Given the description of an element on the screen output the (x, y) to click on. 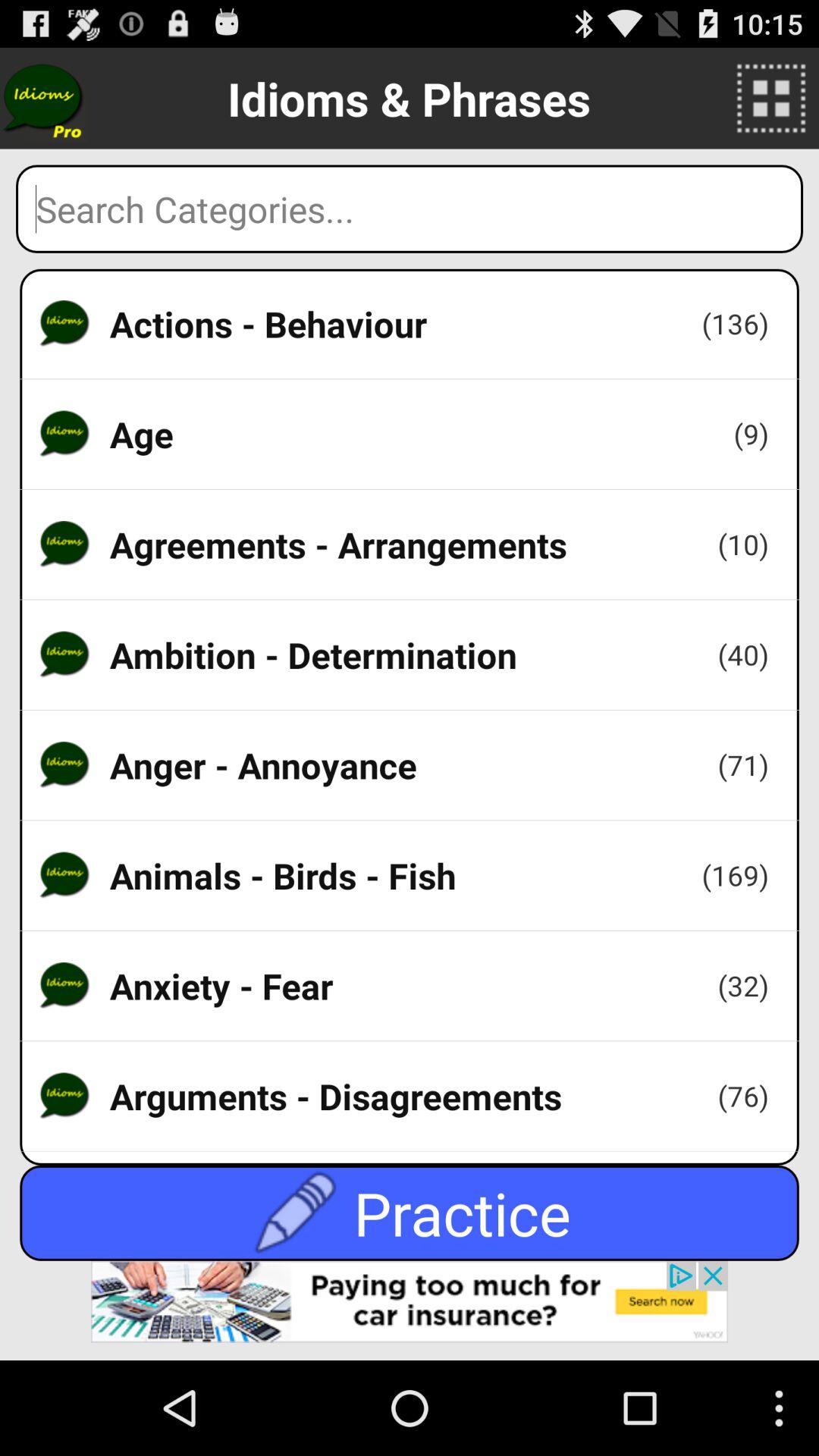
idioms icon (43, 98)
